Given the description of an element on the screen output the (x, y) to click on. 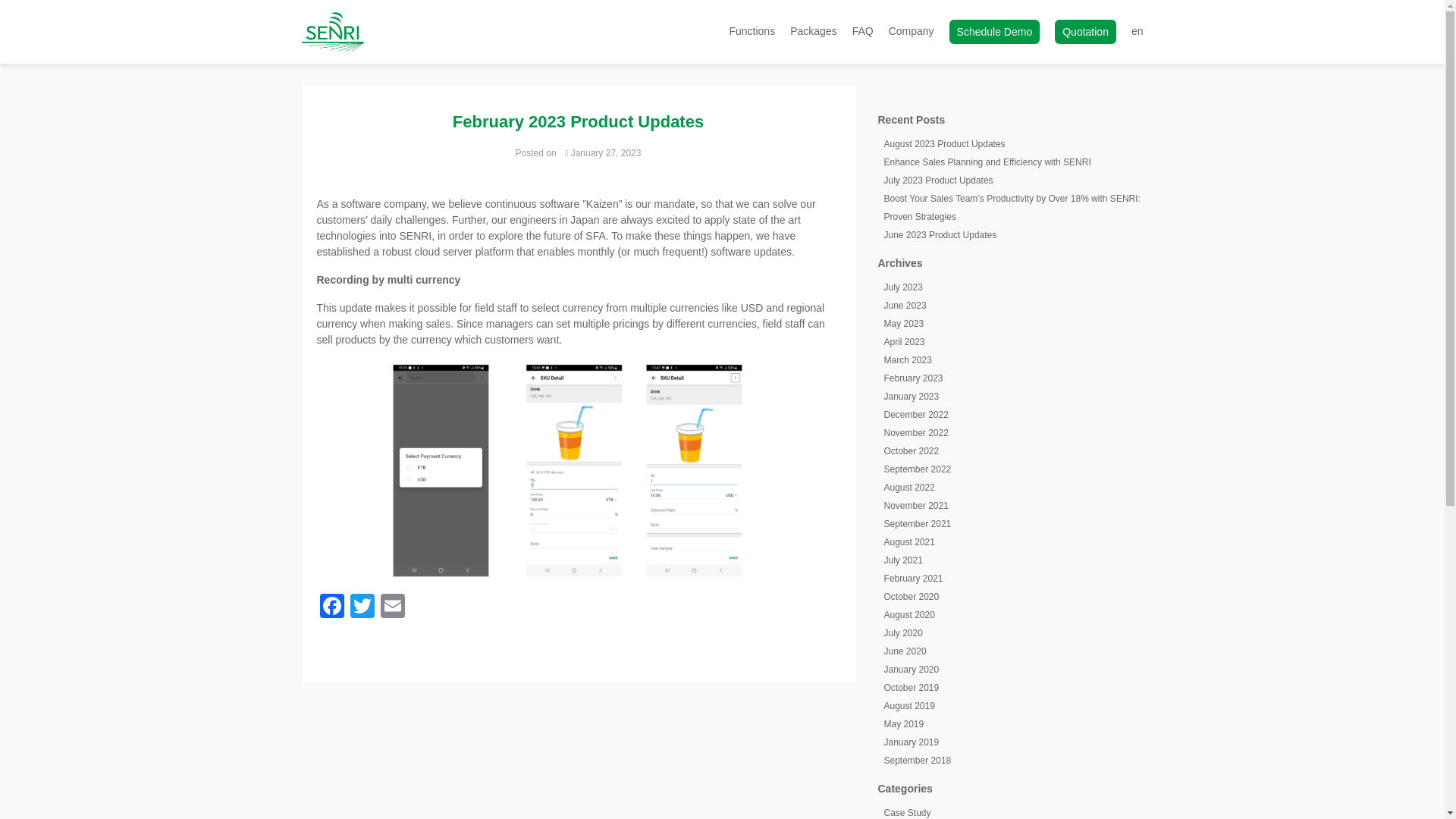
July 2021 (903, 560)
Facebook (332, 607)
Quotation (1085, 31)
November 2022 (916, 432)
August 2021 (908, 542)
May 2023 (903, 323)
Enhance Sales Planning and Efficiency with SENRI (986, 162)
Email (392, 607)
April 2023 (903, 341)
July 2023 Product Updates (937, 180)
